Given the description of an element on the screen output the (x, y) to click on. 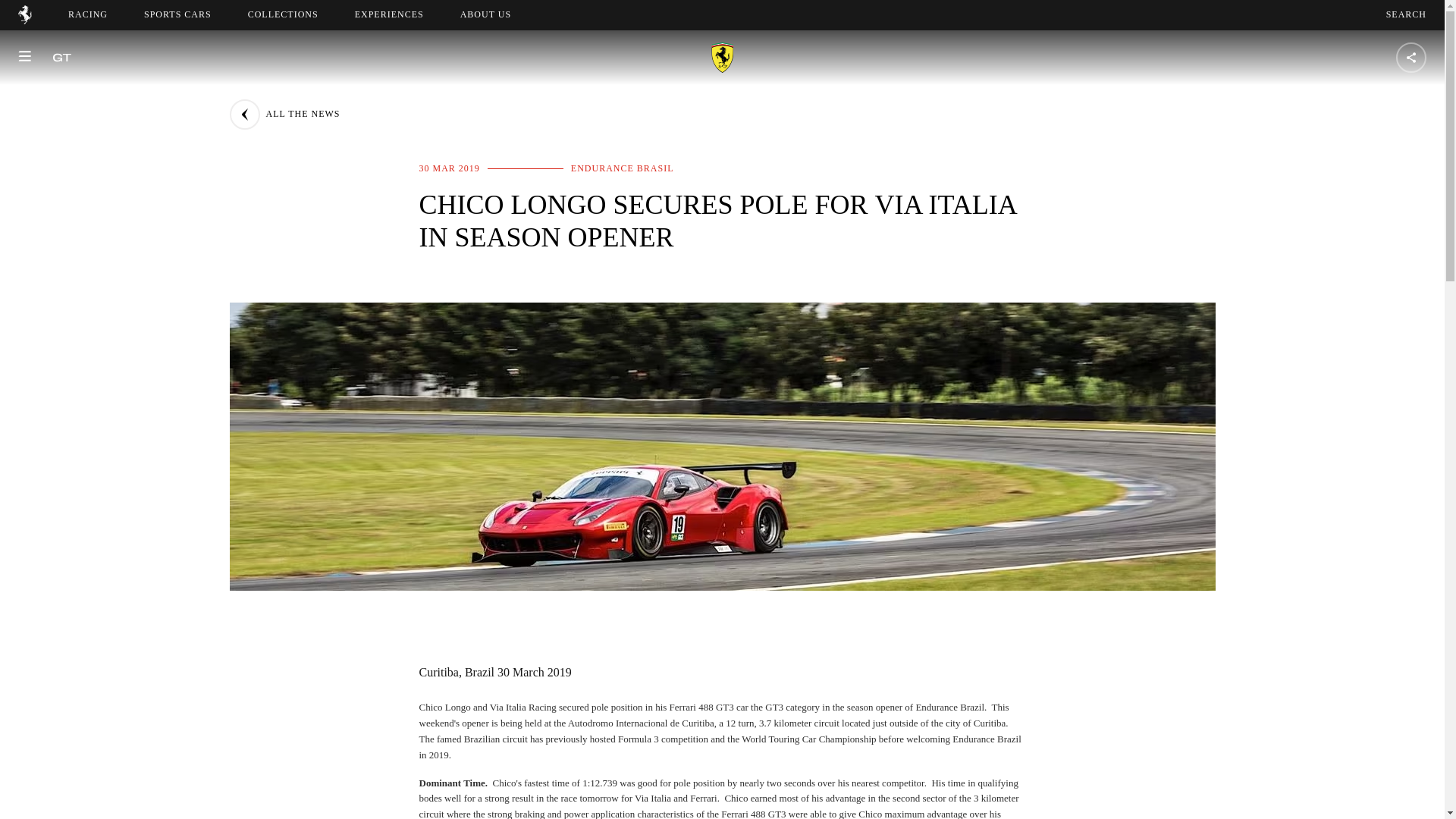
ALL THE NEWS (283, 114)
EXPERIENCES (389, 14)
Ferrari logo (499, 14)
ABOUT US (24, 19)
SEARCH (485, 14)
SPORTS CARS (1406, 14)
COLLECTIONS (177, 14)
RACING (282, 14)
